Given the description of an element on the screen output the (x, y) to click on. 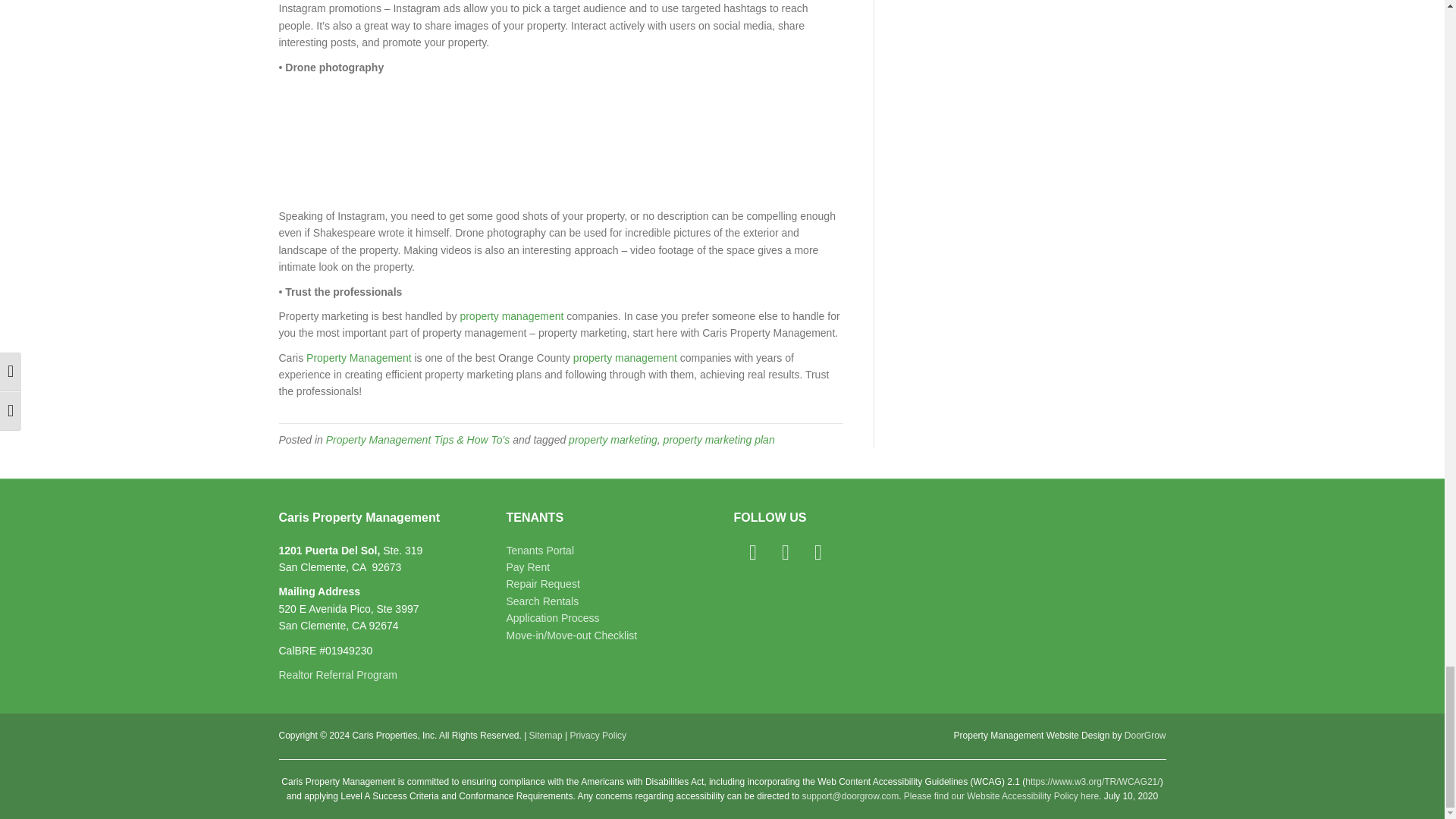
Property Management (358, 357)
property management (511, 316)
property marketing (613, 439)
property management (625, 357)
